Given the description of an element on the screen output the (x, y) to click on. 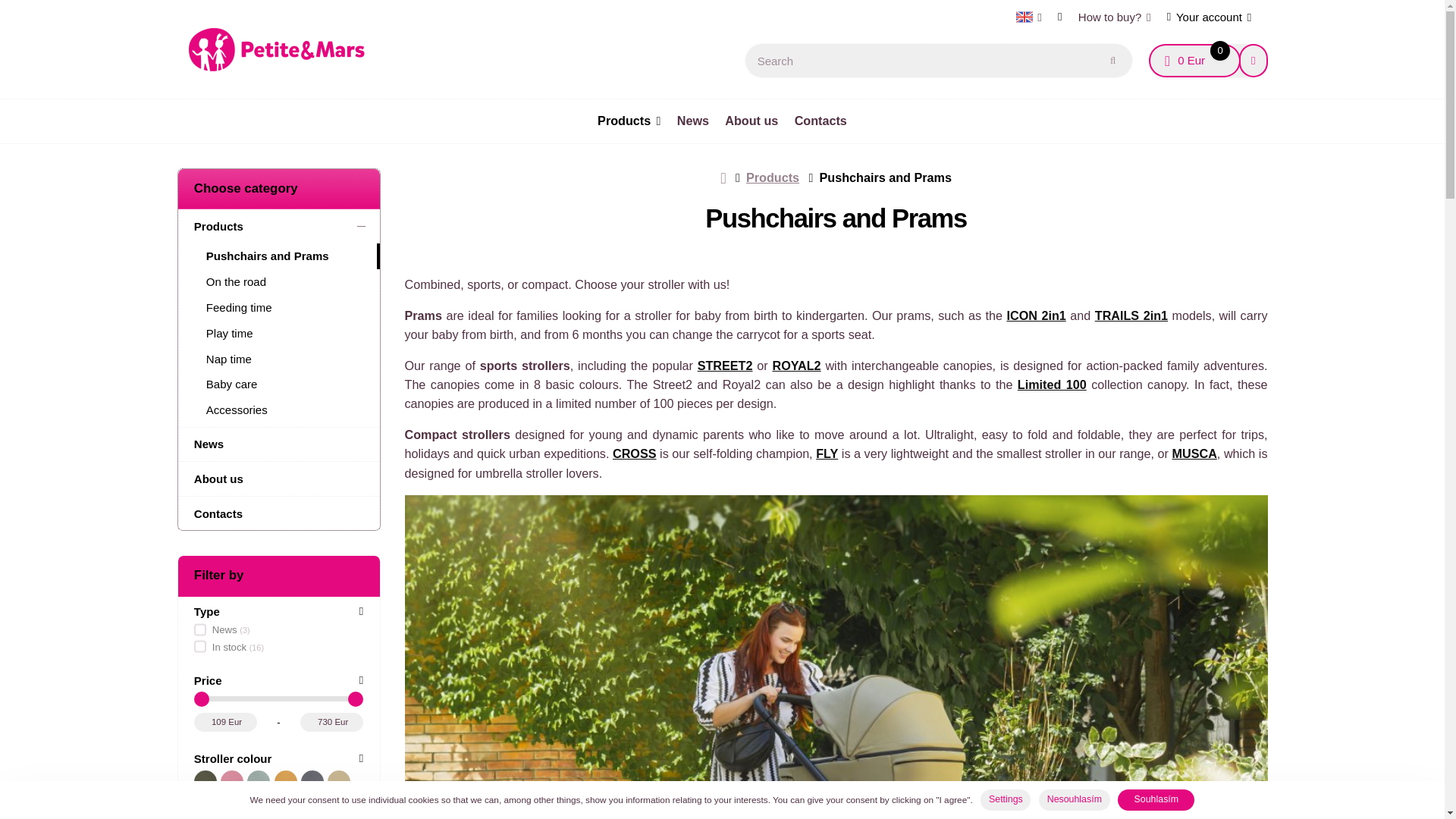
 109 Eur (225, 722)
 730 Eur (330, 722)
Your account (1208, 17)
How to buy? (1114, 17)
Open menu (1028, 17)
Home (1194, 60)
